Given the description of an element on the screen output the (x, y) to click on. 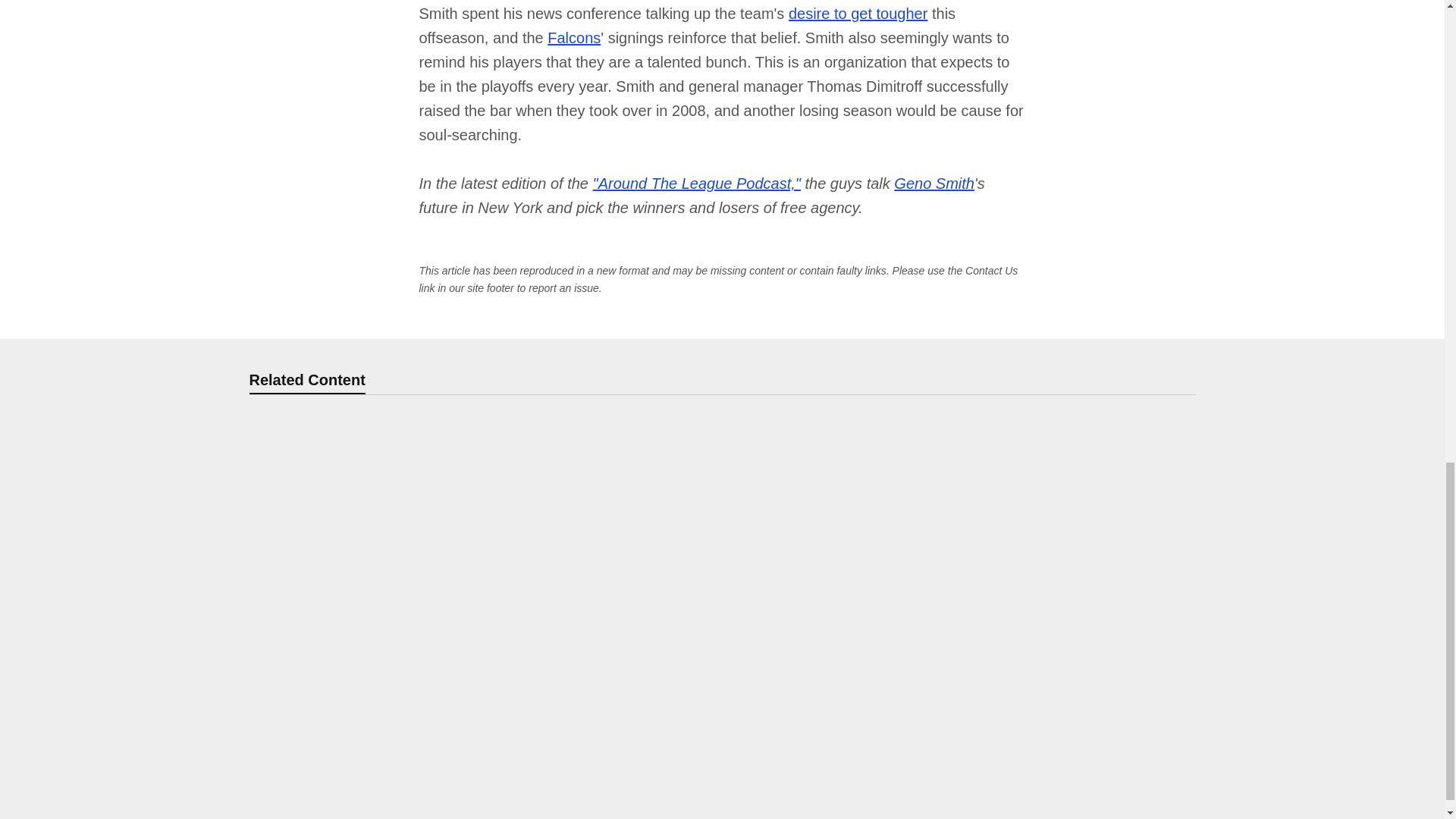
Geno Smith (933, 183)
desire to get tougher (858, 13)
"Around The League Podcast," (696, 183)
Falcons (573, 37)
